Given the description of an element on the screen output the (x, y) to click on. 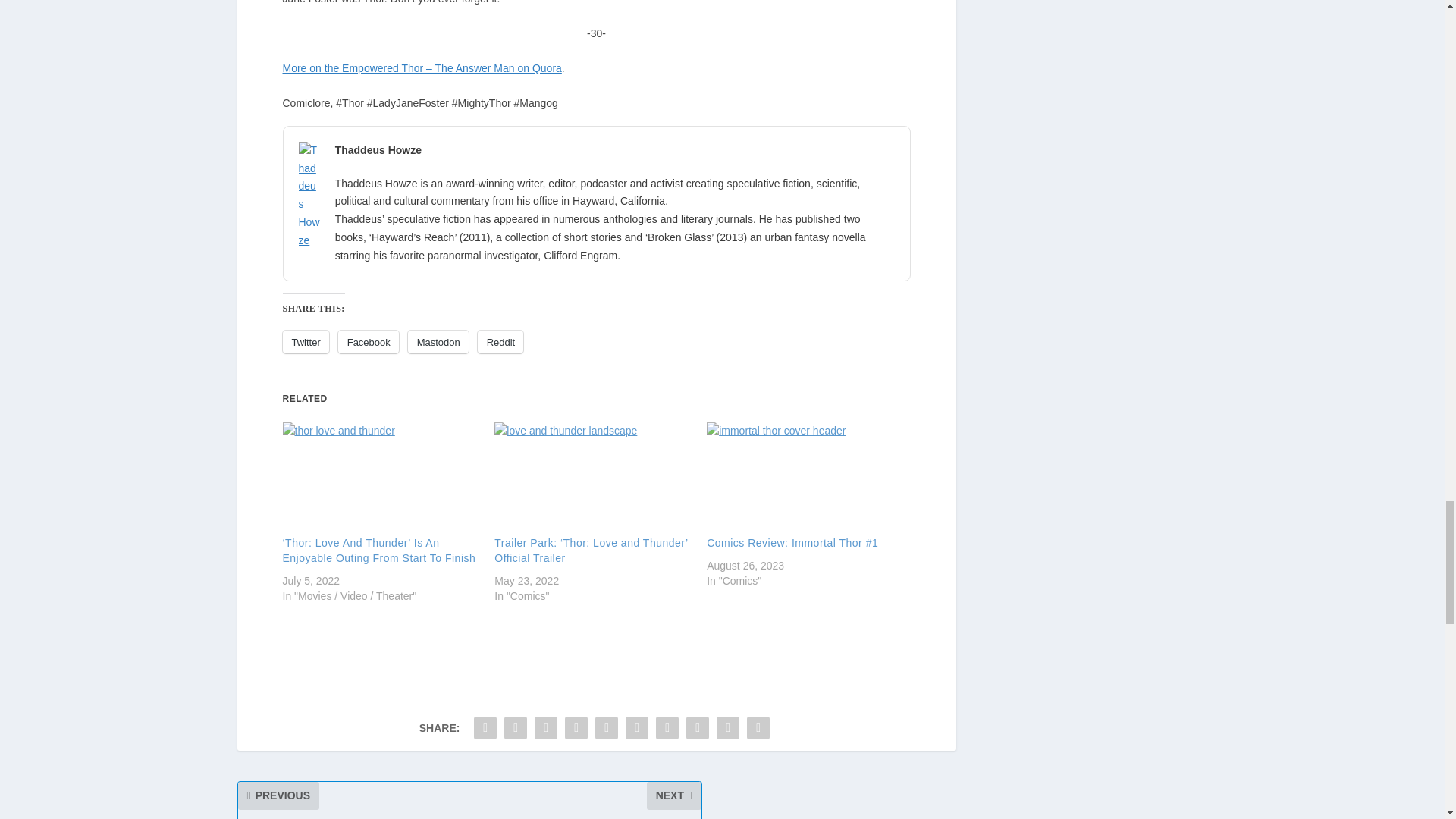
Click to share on Mastodon (437, 341)
Click to share on Twitter (305, 341)
Click to share on Facebook (367, 341)
Click to share on Reddit (500, 341)
